Given the description of an element on the screen output the (x, y) to click on. 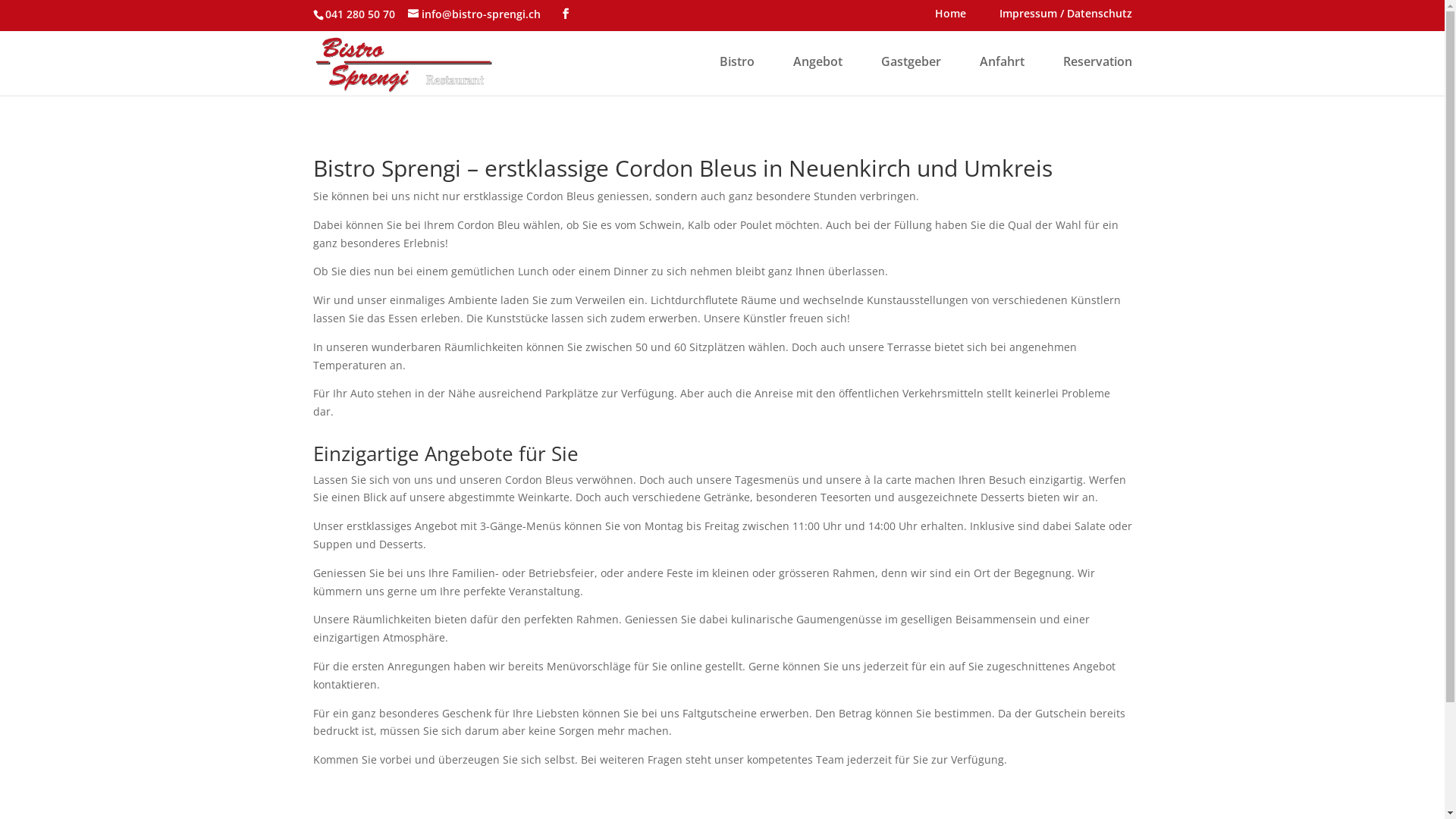
Angebot Element type: text (817, 73)
Reservation Element type: text (1097, 73)
Gastgeber Element type: text (911, 73)
Bistro Element type: text (735, 73)
Anfahrt Element type: text (1001, 73)
Impressum / Datenschutz Element type: text (1065, 16)
info@bistro-sprengi.ch Element type: text (473, 13)
Home Element type: text (949, 16)
